Given the description of an element on the screen output the (x, y) to click on. 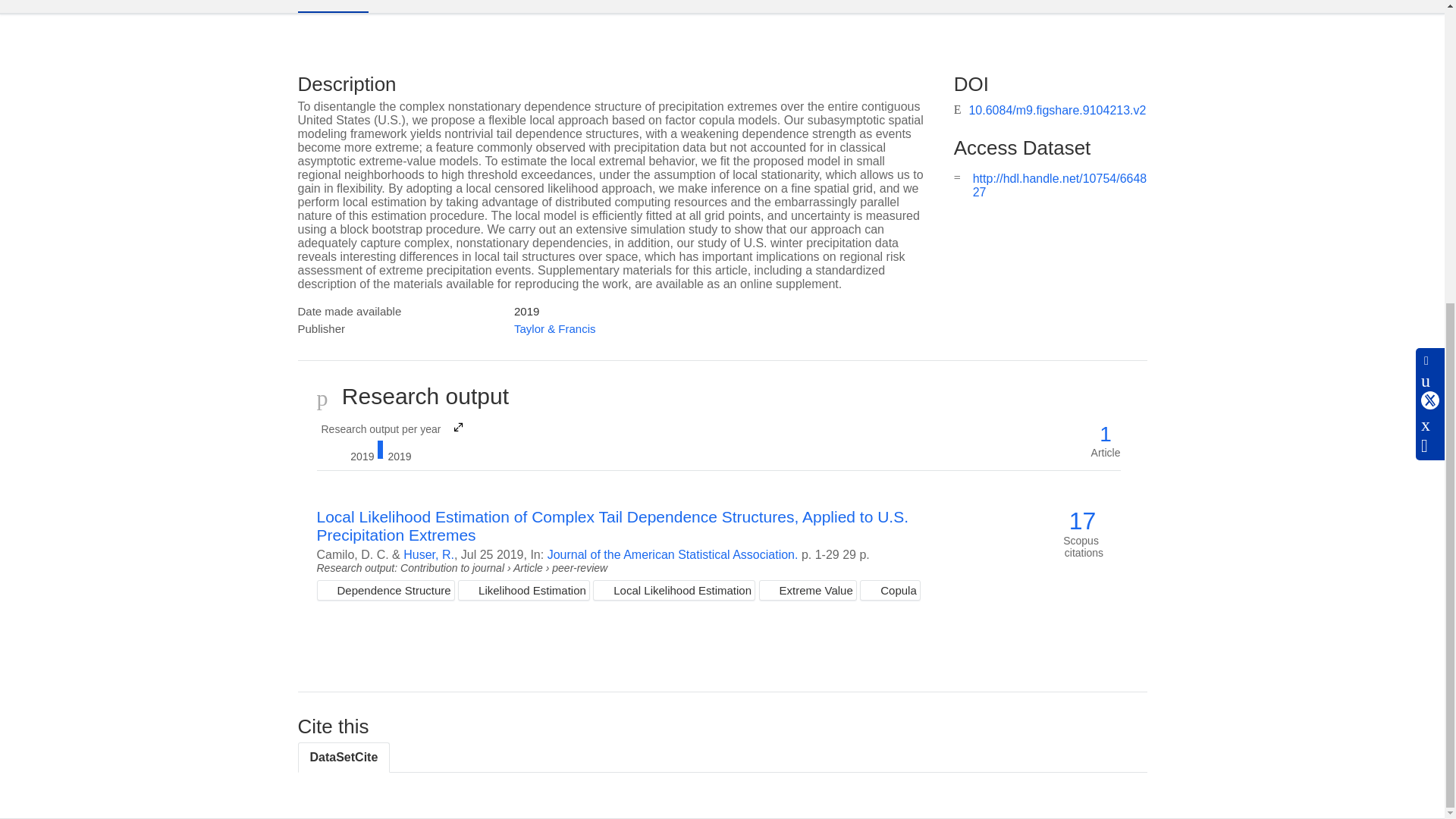
Huser, R. (390, 440)
17 (428, 554)
Overview (1082, 520)
Journal of the American Statistical Association. (332, 6)
1 (672, 554)
